Given the description of an element on the screen output the (x, y) to click on. 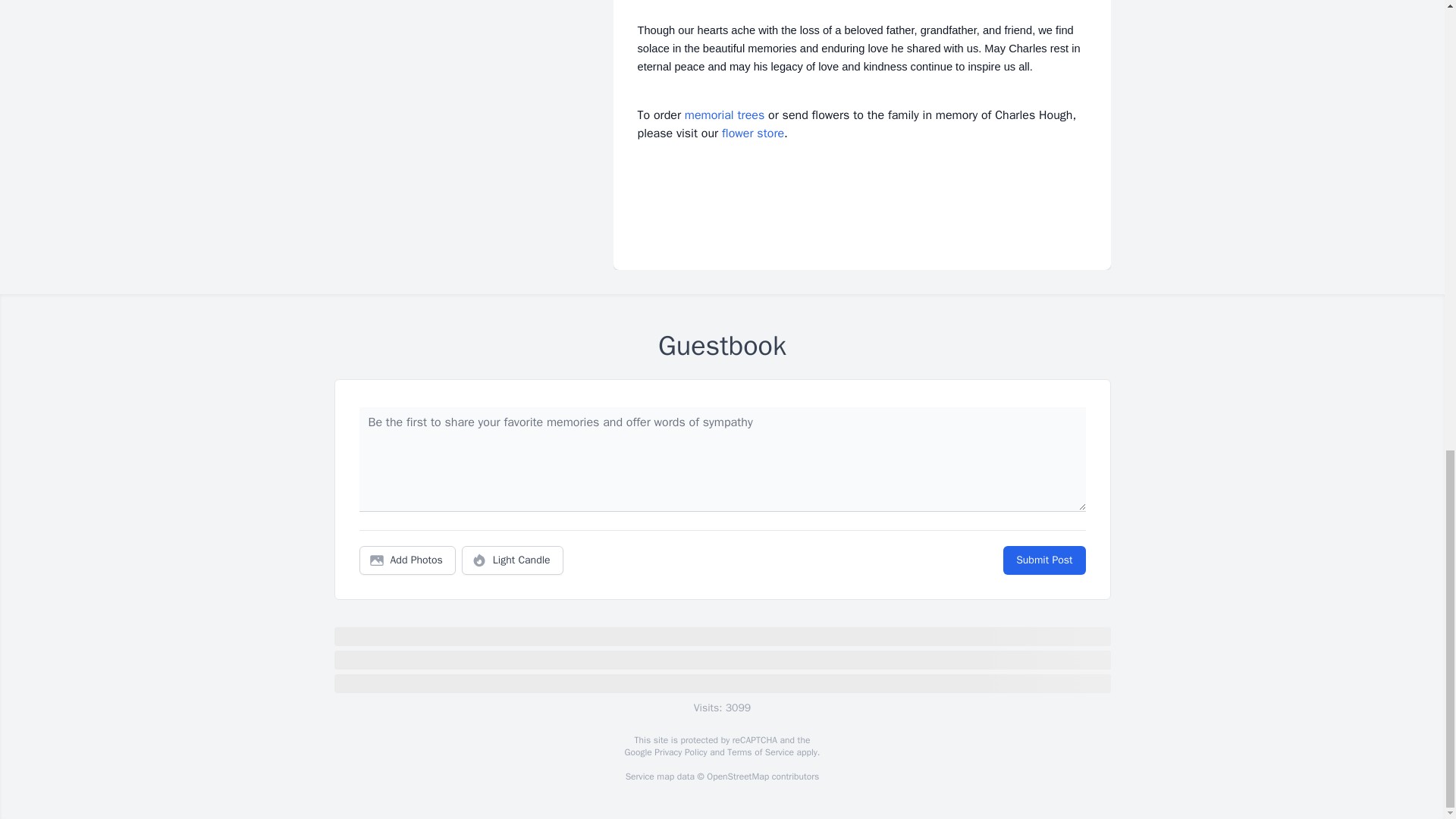
Light Candle (512, 560)
Submit Post (1043, 560)
Privacy Policy (679, 752)
Add Photos (407, 560)
flower store (753, 133)
OpenStreetMap (737, 776)
Terms of Service (759, 752)
memorial trees (724, 114)
